Given the description of an element on the screen output the (x, y) to click on. 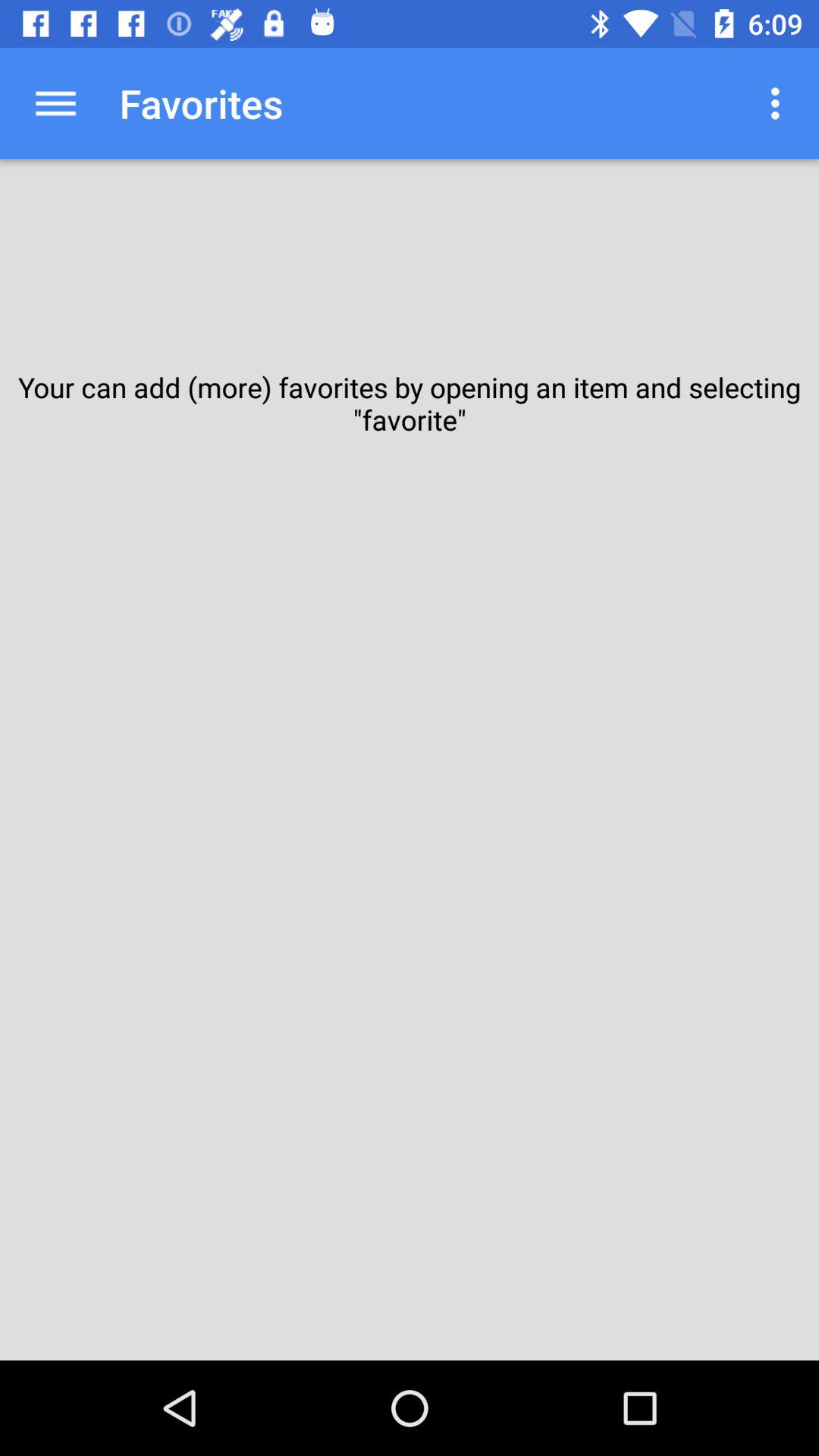
turn on icon next to the favorites app (779, 103)
